Given the description of an element on the screen output the (x, y) to click on. 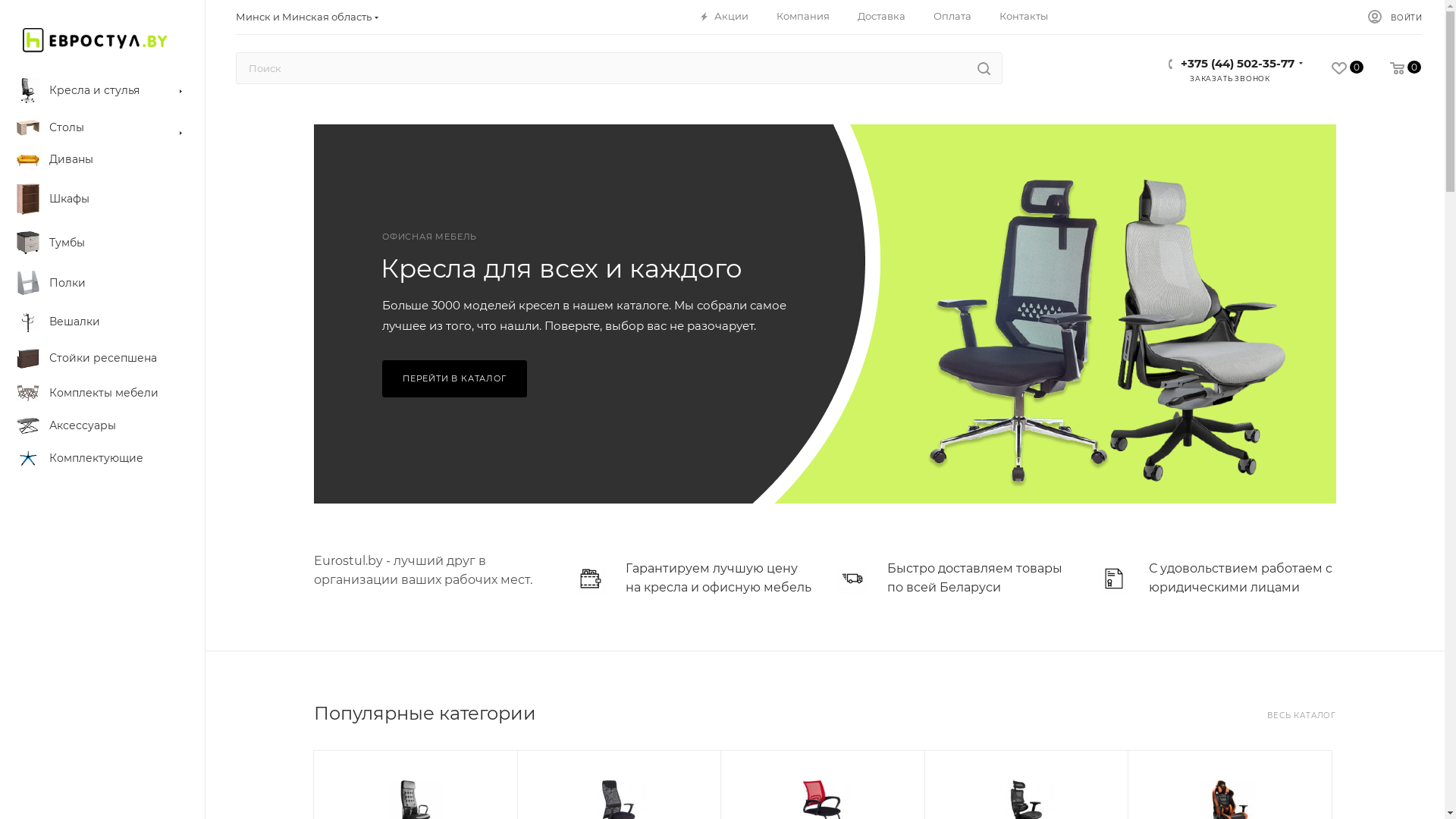
0 Element type: text (1334, 68)
+375 (44) 502-35-77 Element type: text (1237, 60)
0 Element type: text (1392, 68)
